Given the description of an element on the screen output the (x, y) to click on. 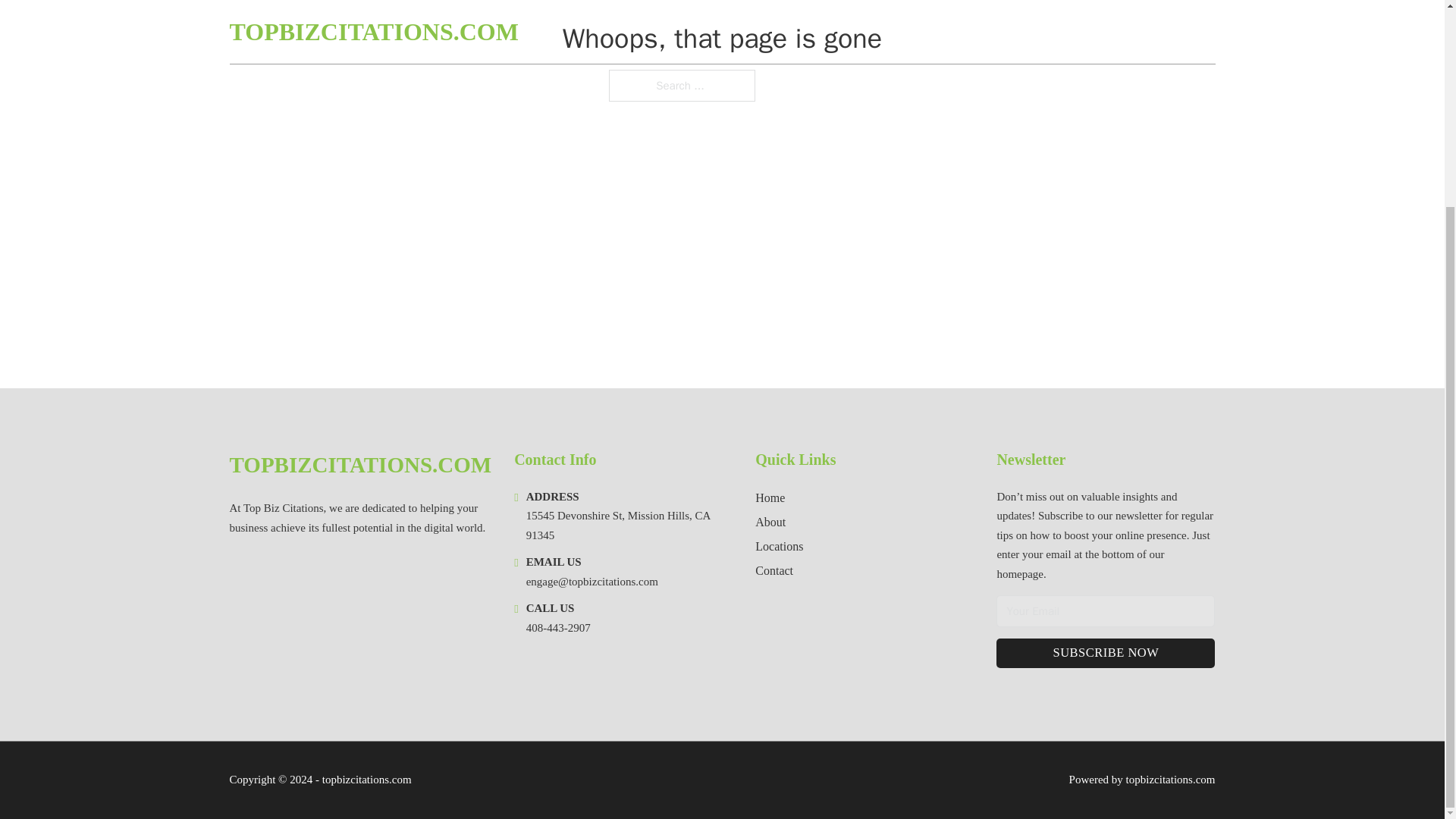
Home (769, 497)
TOPBIZCITATIONS.COM (360, 465)
408-443-2907 (558, 627)
SUBSCRIBE NOW (1104, 653)
About (770, 521)
Locations (779, 546)
Contact (774, 570)
